Given the description of an element on the screen output the (x, y) to click on. 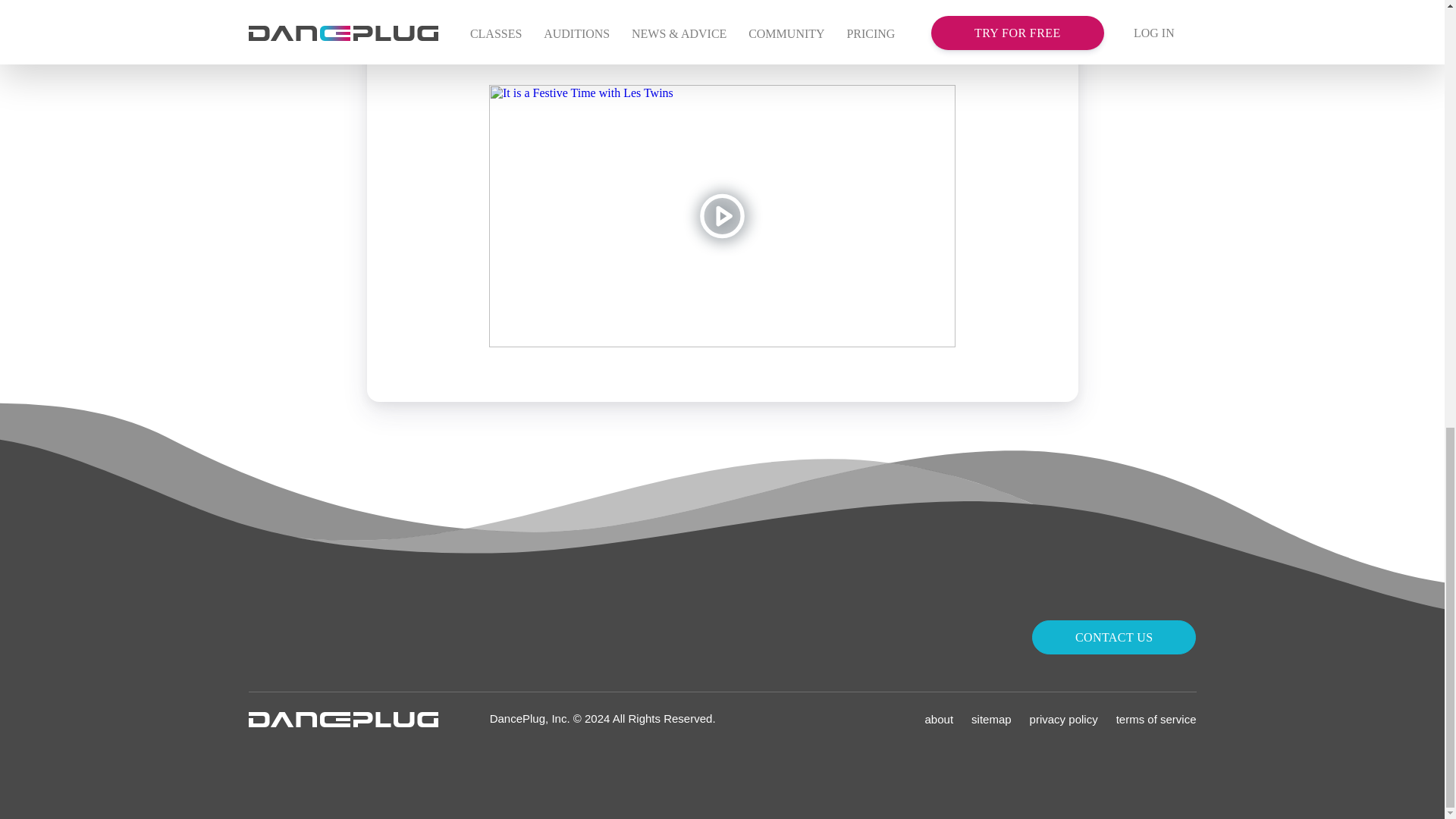
Follow us on Instagram (260, 636)
It is a Festive Time with Les Twins (722, 216)
Subscribe to our Youtube Channel (320, 636)
Follow us on Twitter (290, 636)
Subscribe to our Youtube Channel (320, 636)
Follow us on Twitter (290, 636)
Like us on Facebook (351, 636)
Join us on LinkedIn (381, 636)
Follow us on Instagram (260, 636)
